Given the description of an element on the screen output the (x, y) to click on. 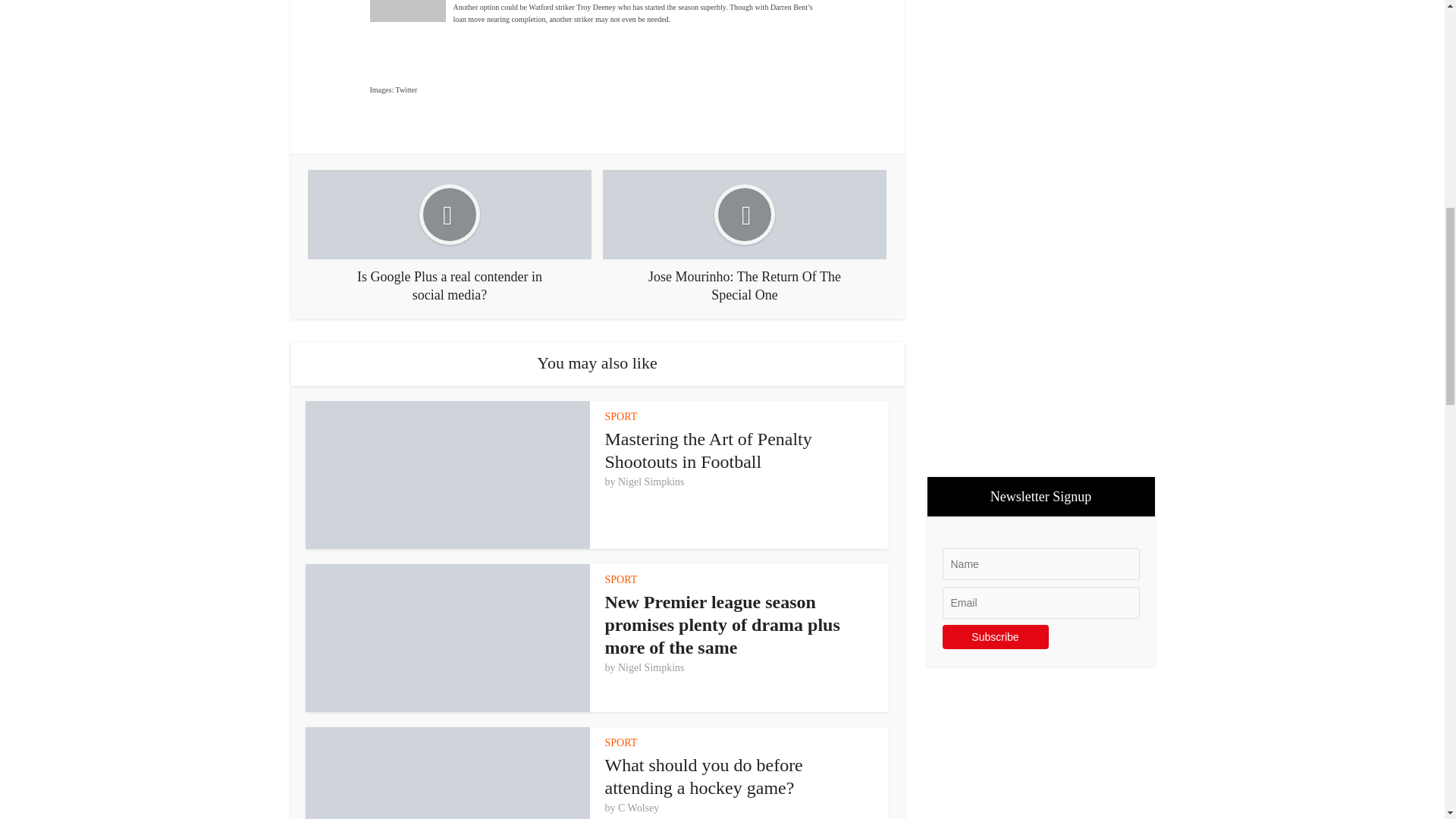
SPORT (621, 416)
Subscribe (995, 636)
What should you do before attending a hockey game? (704, 776)
Nigel Simpkins (650, 667)
SPORT (621, 742)
Is Google Plus a real contender in social media? (449, 236)
Nigel Simpkins (650, 481)
Jose Mourinho: The Return Of The Special One (744, 236)
What should you do before attending a hockey game? (704, 776)
Mastering the Art of Penalty Shootouts in Football (708, 450)
SPORT (621, 579)
C Wolsey (638, 807)
Mastering the Art of Penalty Shootouts in Football (708, 450)
